Given the description of an element on the screen output the (x, y) to click on. 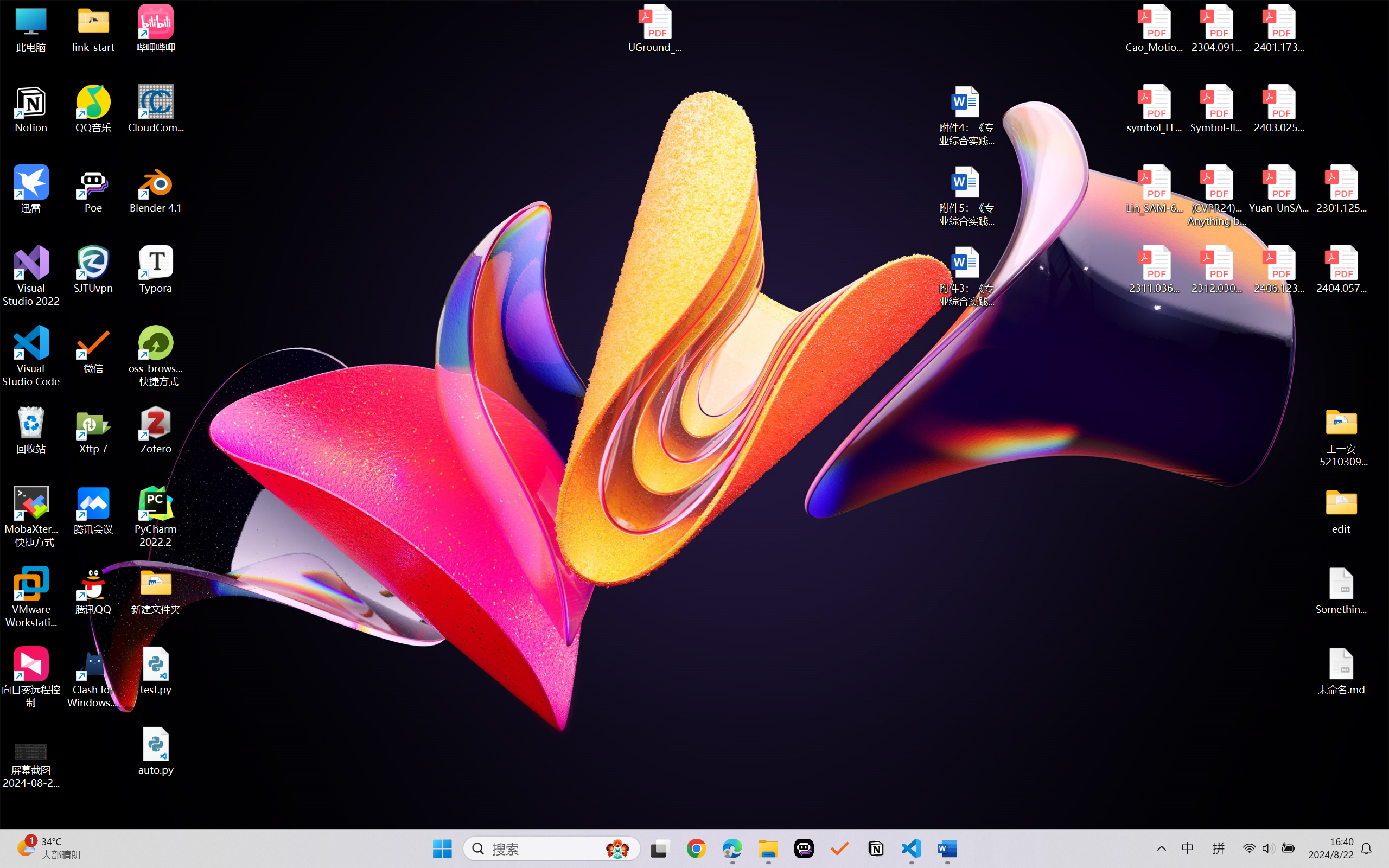
2406.12373v2.pdf (1278, 269)
PyCharm 2022.2 (156, 516)
test.py (156, 670)
